Given the description of an element on the screen output the (x, y) to click on. 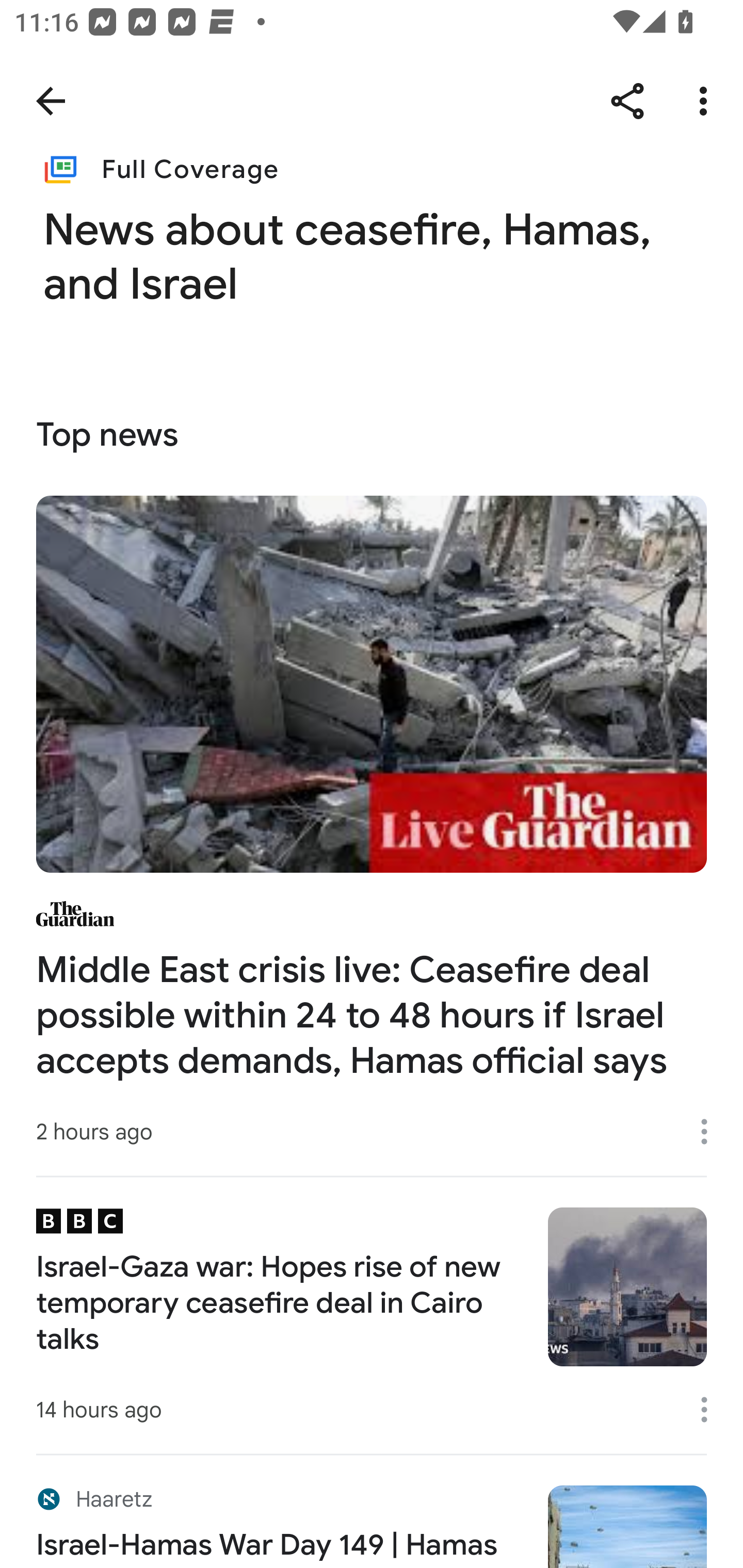
Navigate up (50, 101)
Share (626, 101)
More options (706, 101)
More options (711, 1131)
More options (711, 1409)
